Given the description of an element on the screen output the (x, y) to click on. 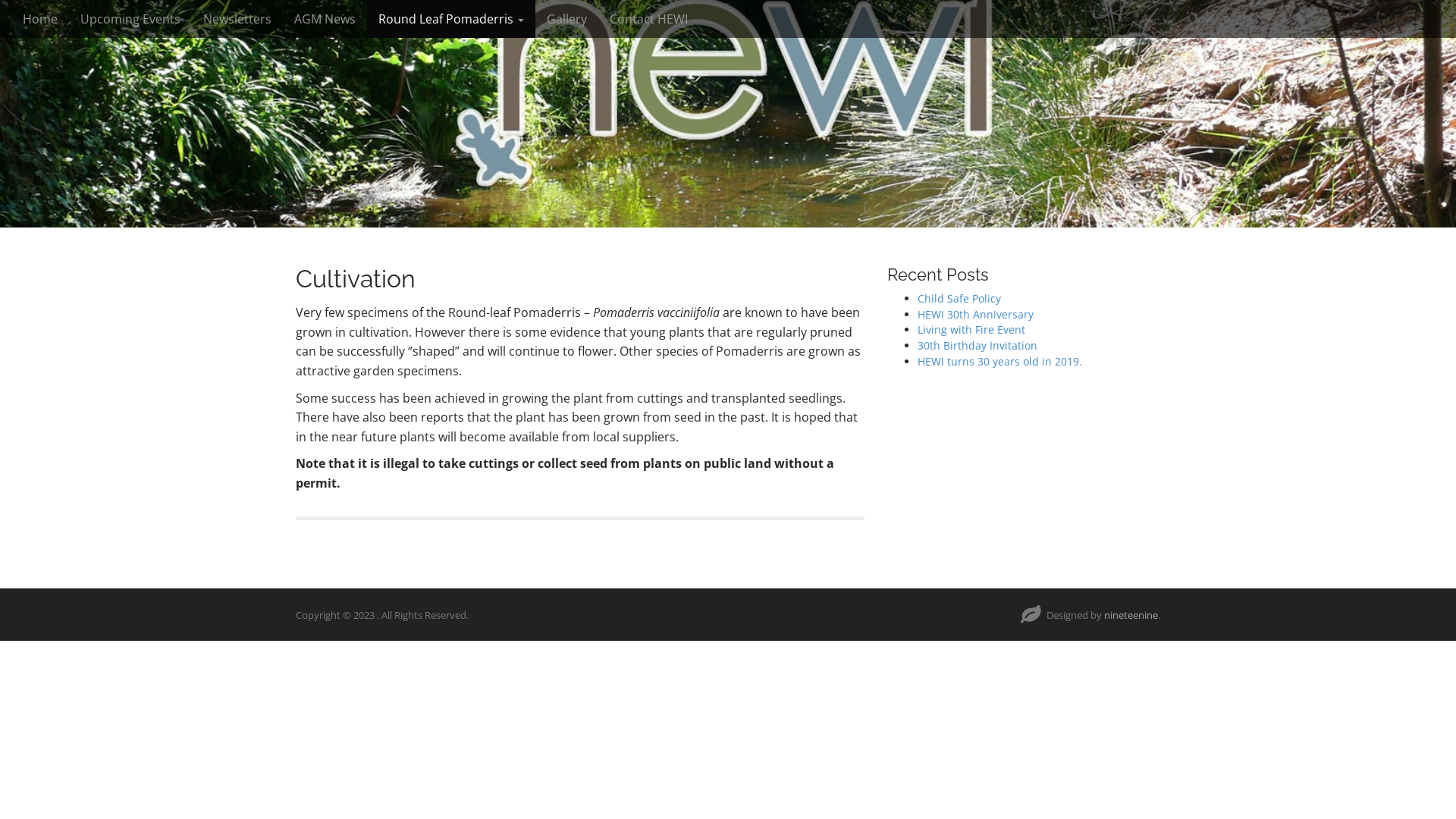
HEWI turns 30 years old in 2019. Element type: text (999, 360)
Living with Fire Event Element type: text (971, 329)
Contact HEWI Element type: text (648, 18)
Home Element type: text (40, 18)
30th Birthday Invitation Element type: text (977, 345)
Round Leaf Pomaderris Element type: text (451, 18)
Gallery Element type: text (566, 18)
Newsletters Element type: text (236, 18)
HEWI 30th Anniversary Element type: text (975, 314)
Upcoming Events Element type: text (130, 18)
Child Safe Policy Element type: text (959, 298)
nineteenine Element type: text (1130, 614)
AGM News Element type: text (324, 18)
